Given the description of an element on the screen output the (x, y) to click on. 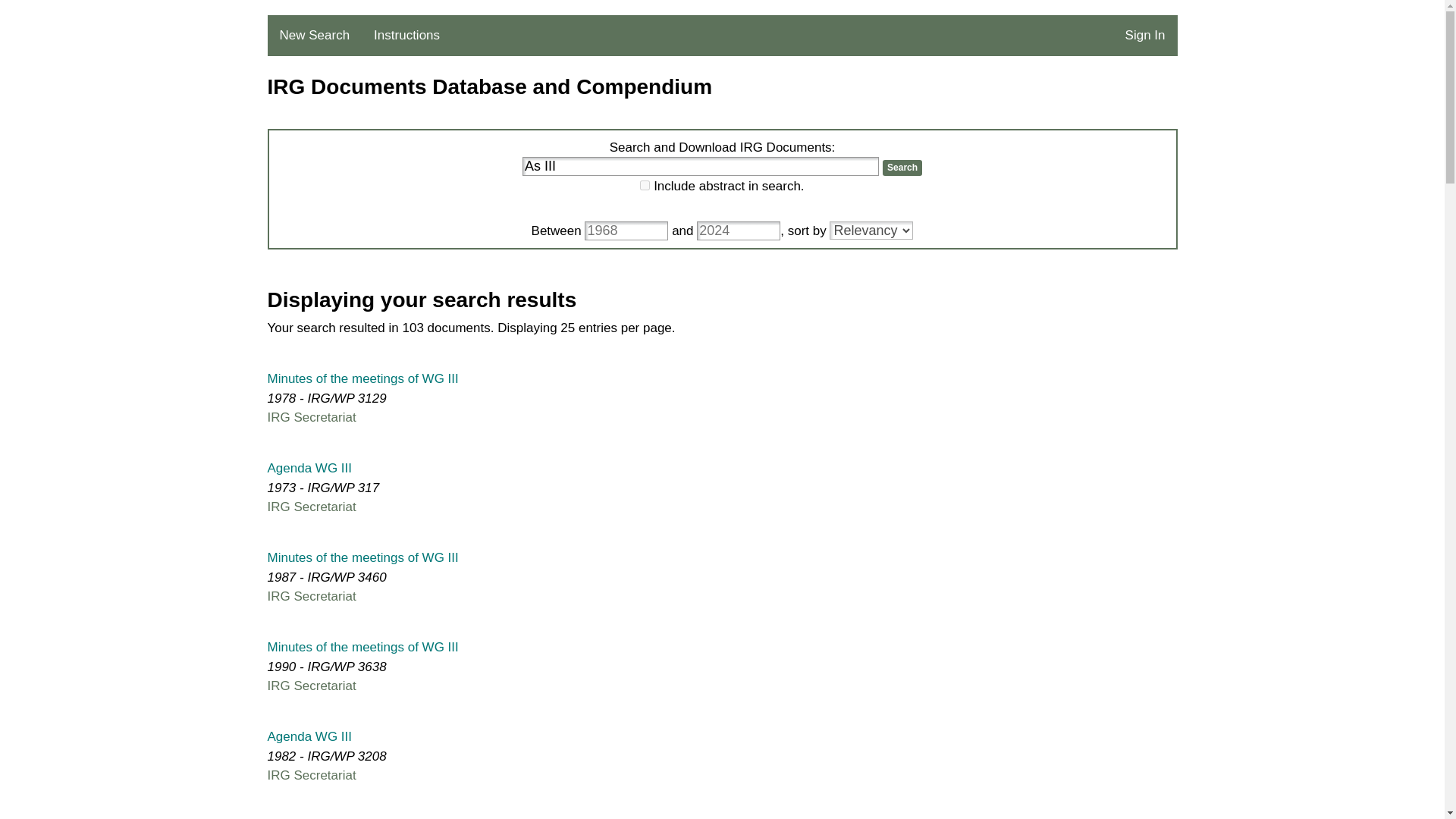
Click for more information about document. (362, 378)
Instructions (406, 35)
Search (901, 166)
Click for more information about document. (362, 557)
Minutes of the meetings of WG III (362, 557)
New Search (313, 35)
Search (901, 166)
As III (700, 166)
Sign In (1145, 35)
Agenda WG III (309, 736)
Minutes of the meetings of WG III (362, 646)
Click for more information about document. (309, 468)
Click for more information about document. (362, 646)
Search (901, 166)
Minutes of the meetings of WG III (362, 378)
